Given the description of an element on the screen output the (x, y) to click on. 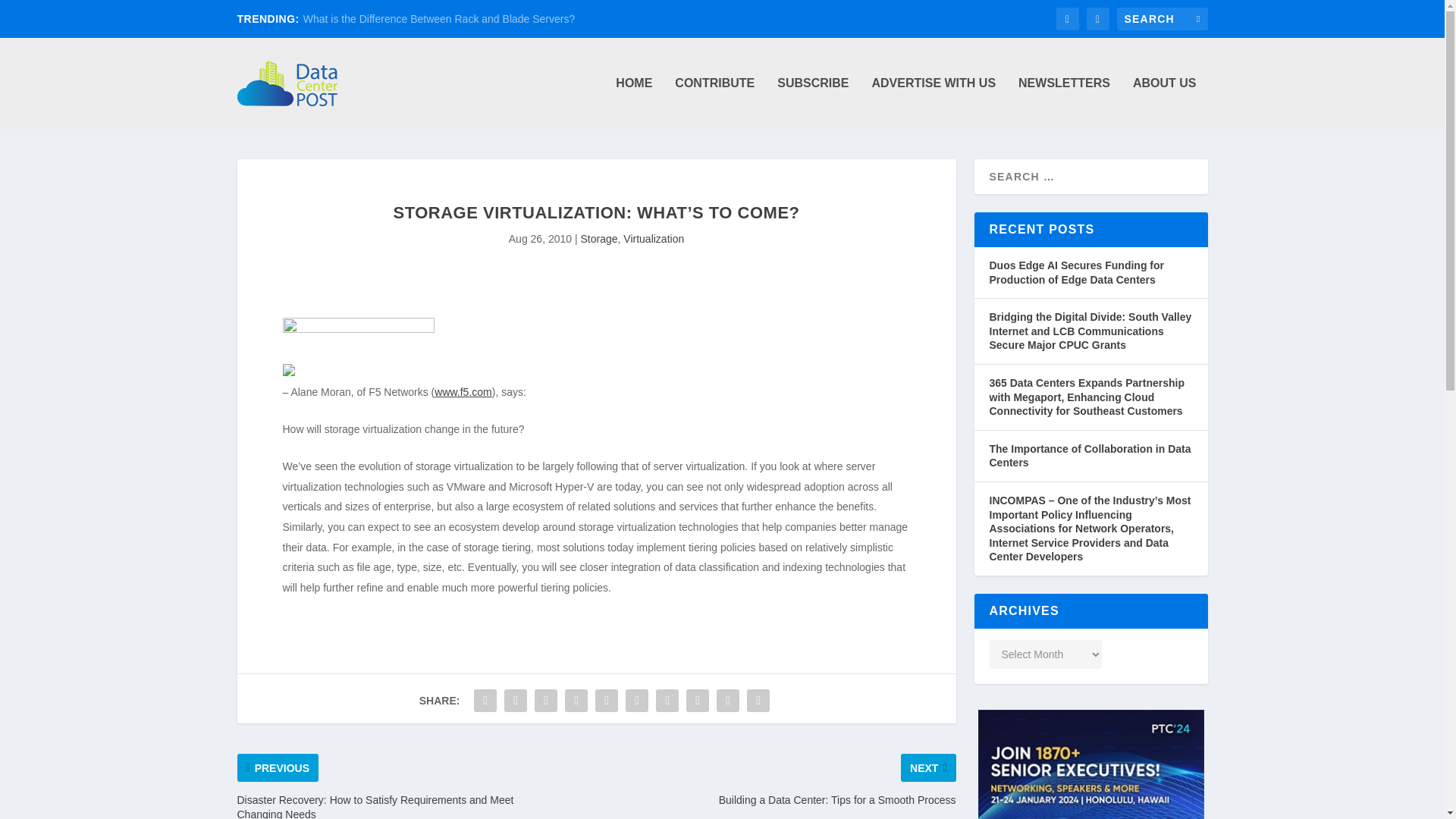
ADVERTISE WITH US (932, 102)
Virtualization (653, 238)
SUBSCRIBE (812, 102)
ABOUT US (1164, 102)
Search for: (1161, 18)
NEWSLETTERS (1063, 102)
Storage (598, 238)
CONTRIBUTE (714, 102)
What is the Difference Between Rack and Blade Servers? (438, 19)
www.f5.com (462, 391)
